Given the description of an element on the screen output the (x, y) to click on. 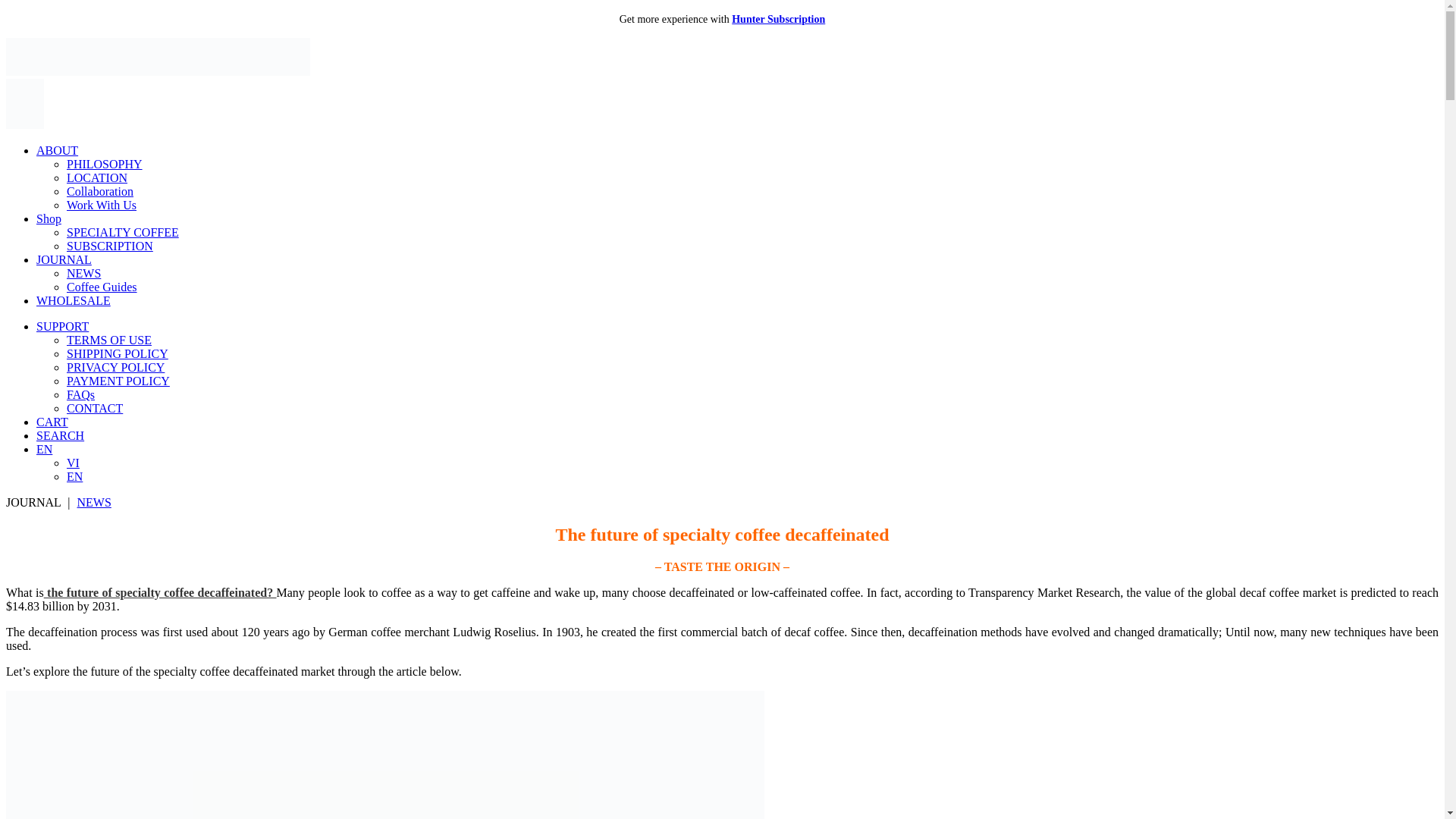
VI (73, 462)
PAYMENT POLICY (118, 380)
Coffee Guides (101, 286)
PHILOSOPHY (104, 164)
SUBSCRIPTION (109, 245)
EN (74, 476)
FAQs (80, 394)
Work With Us (101, 205)
the future of specialty coffee decaffeinated? (159, 592)
SPECIALTY COFFEE (122, 232)
